Given the description of an element on the screen output the (x, y) to click on. 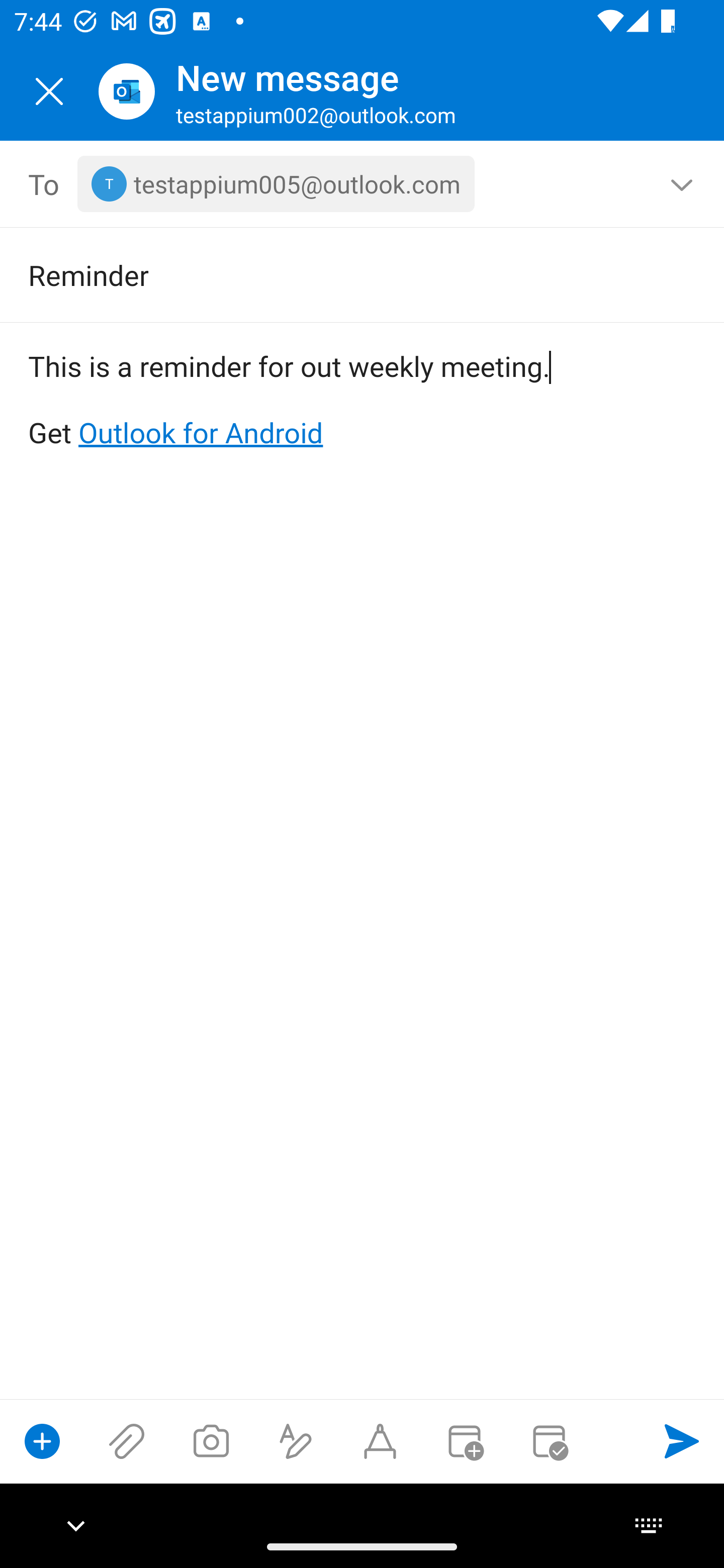
Close (49, 91)
Reminder (333, 274)
Show compose options (42, 1440)
Attach files (126, 1440)
Take a photo (210, 1440)
Show formatting options (295, 1440)
Start Ink compose (380, 1440)
Convert to event (464, 1440)
Send availability (548, 1440)
Send (681, 1440)
